Given the description of an element on the screen output the (x, y) to click on. 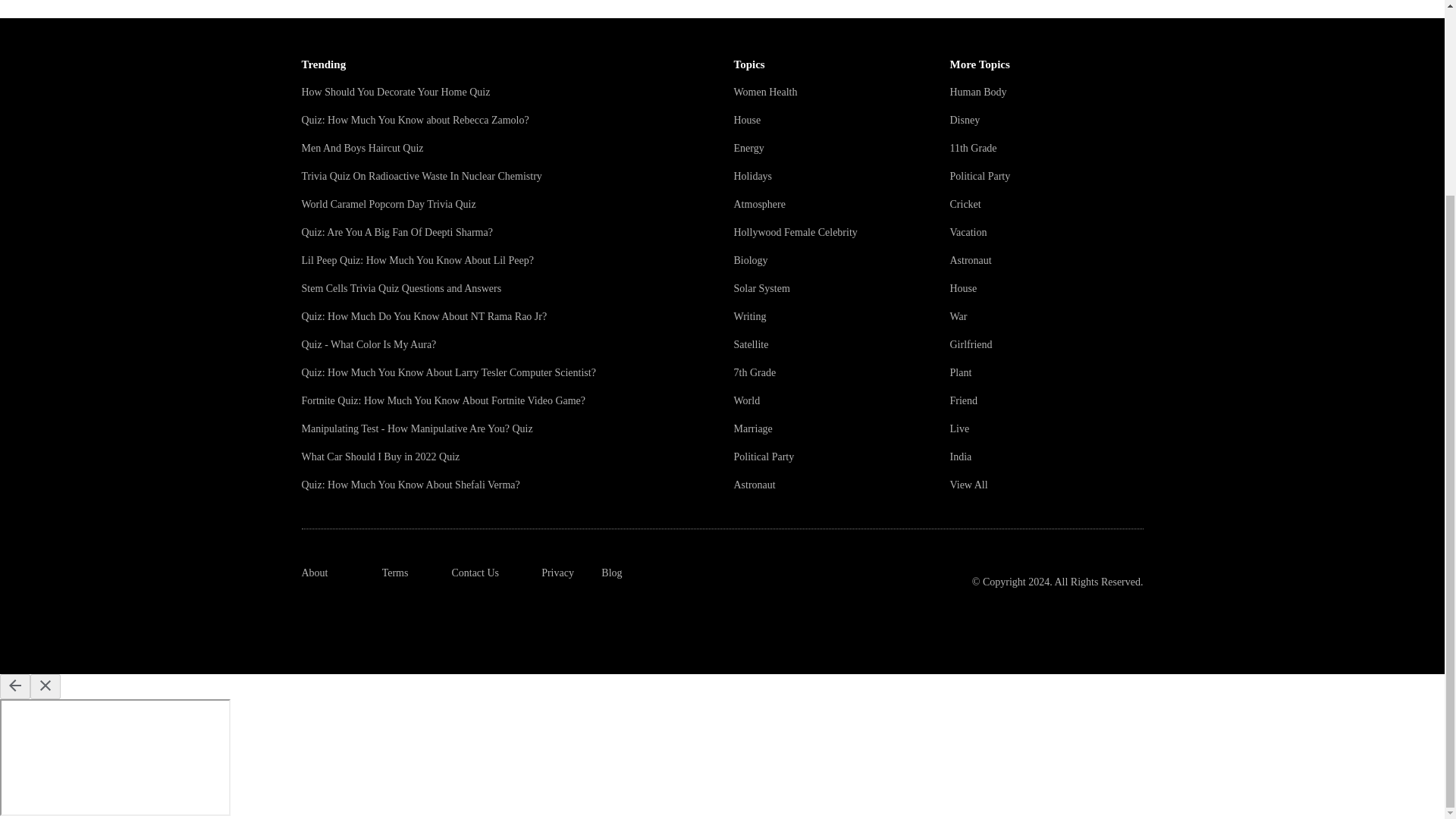
Men And Boys Haircut Quiz (362, 147)
Contact Us (475, 572)
Trivia Quiz On Radioactive Waste In Nuclear Chemistry (421, 175)
Advertisement (1304, 131)
World Caramel Popcorn Day Trivia Quiz (388, 204)
Quiz: How Much You Know about Rebecca Zamolo? (415, 120)
Privacy (557, 572)
Lil Peep Quiz: How Much You Know About Lil Peep? (417, 260)
Quiz: Are You A Big Fan Of Deepti Sharma? (397, 232)
Blog (611, 572)
About (315, 572)
How Should You Decorate Your Home Quiz (395, 91)
Advertisement (1304, 12)
Terms (395, 572)
